Given the description of an element on the screen output the (x, y) to click on. 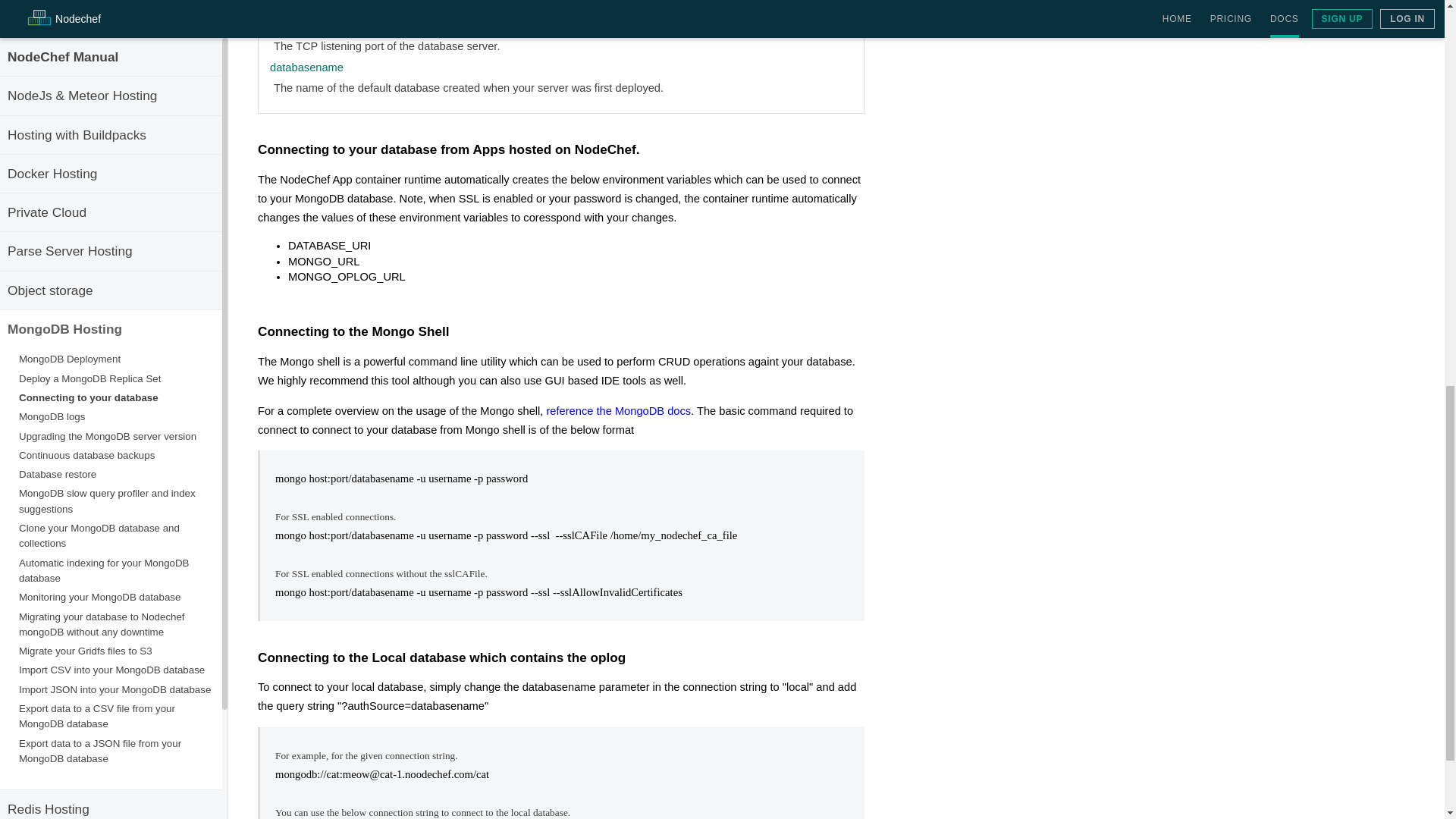
MySQL Hosting (53, 28)
PostgreSQL Hosting (66, 68)
reference the MongoDB docs (618, 410)
ETL Guide (38, 106)
